Given the description of an element on the screen output the (x, y) to click on. 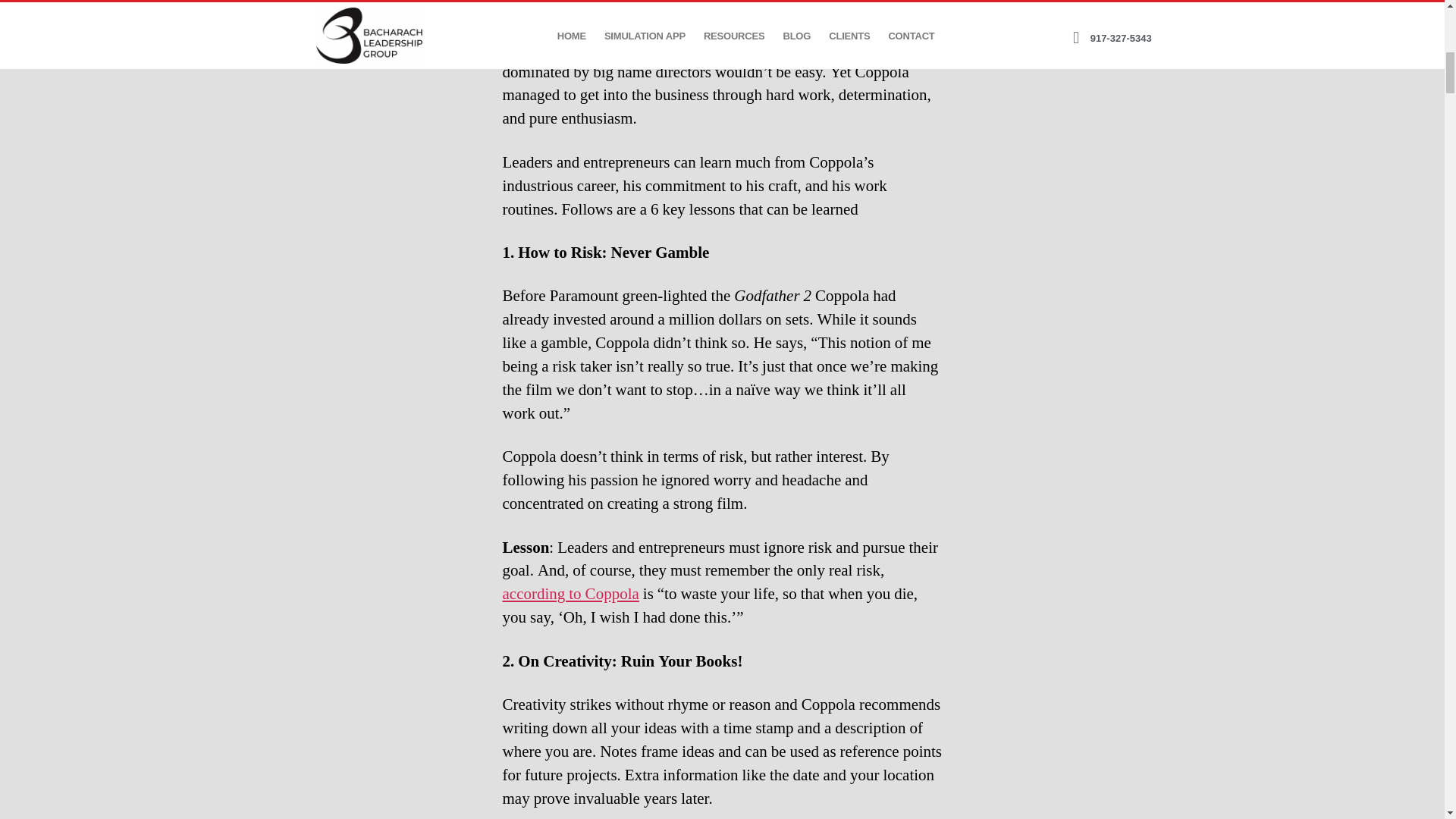
according to Coppola (570, 593)
